Given the description of an element on the screen output the (x, y) to click on. 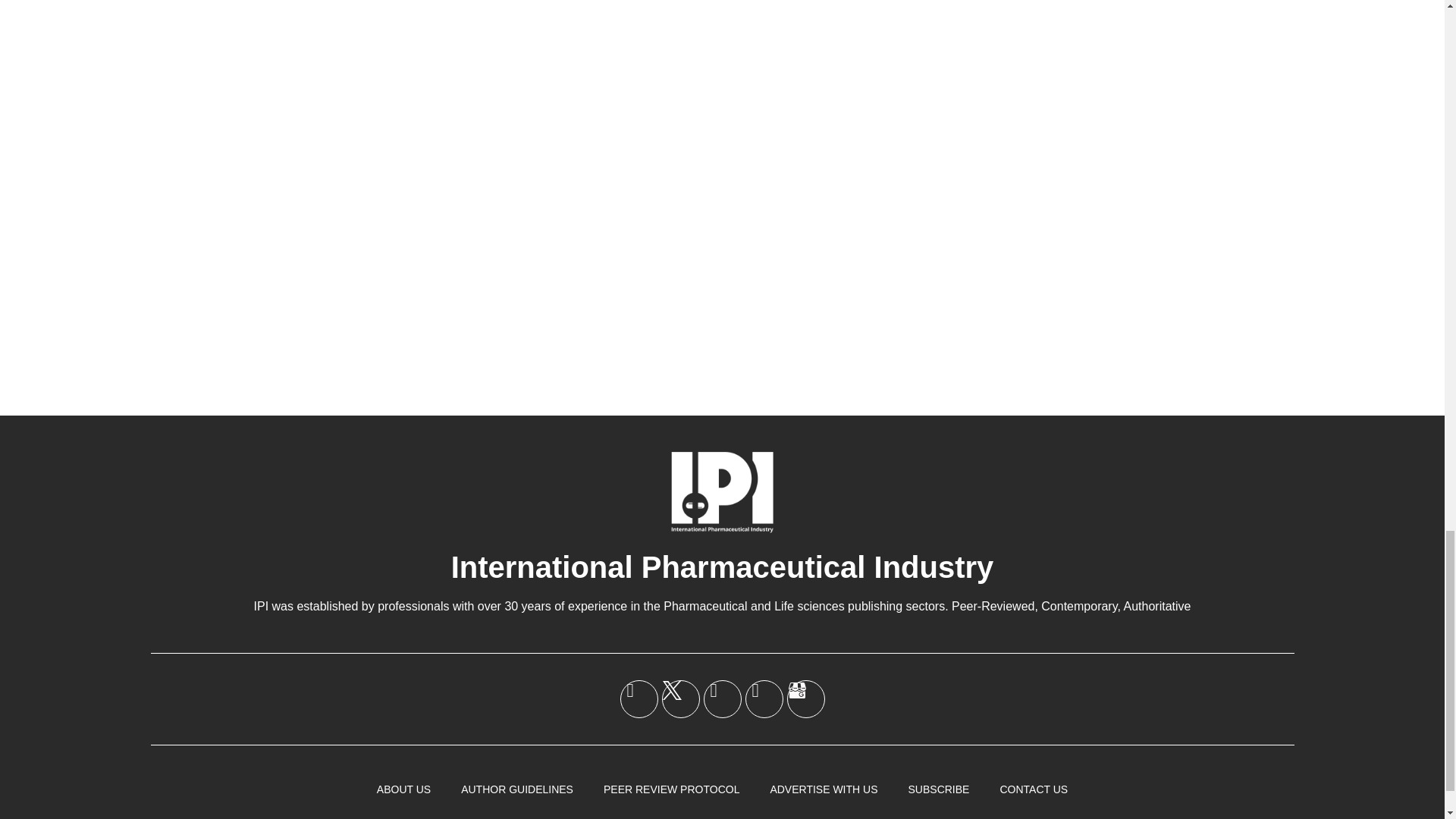
logo-ipi-w.png (721, 491)
